Given the description of an element on the screen output the (x, y) to click on. 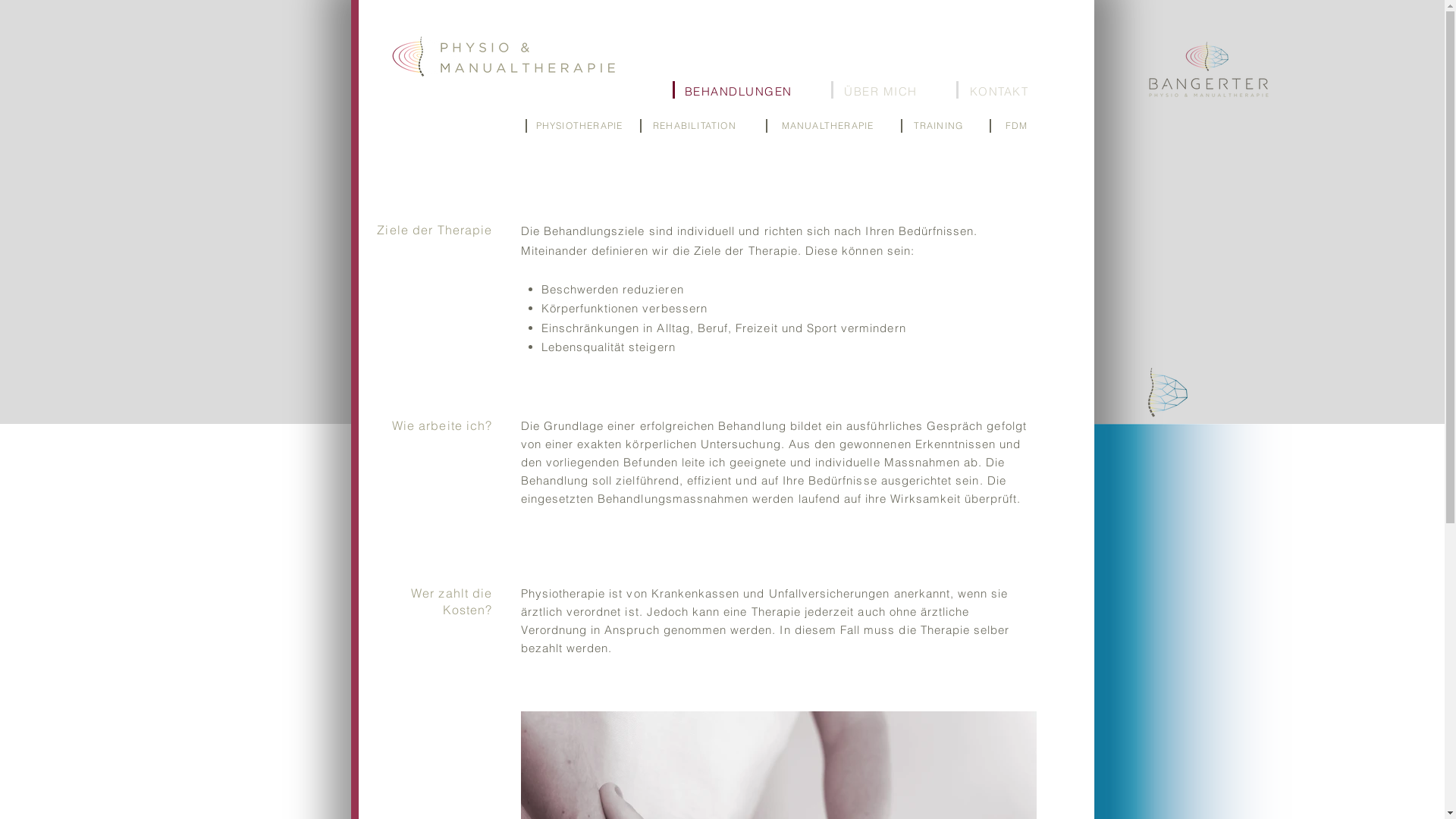
FDM Element type: text (1018, 124)
MANUALTHERAPIE Element type: text (828, 124)
KONTAKT Element type: text (1000, 90)
PHYSIOTHERAPIE Element type: text (580, 124)
REHABILITATION Element type: text (696, 124)
TRAINING Element type: text (939, 124)
BEHANDLUNGEN Element type: text (739, 90)
